Given the description of an element on the screen output the (x, y) to click on. 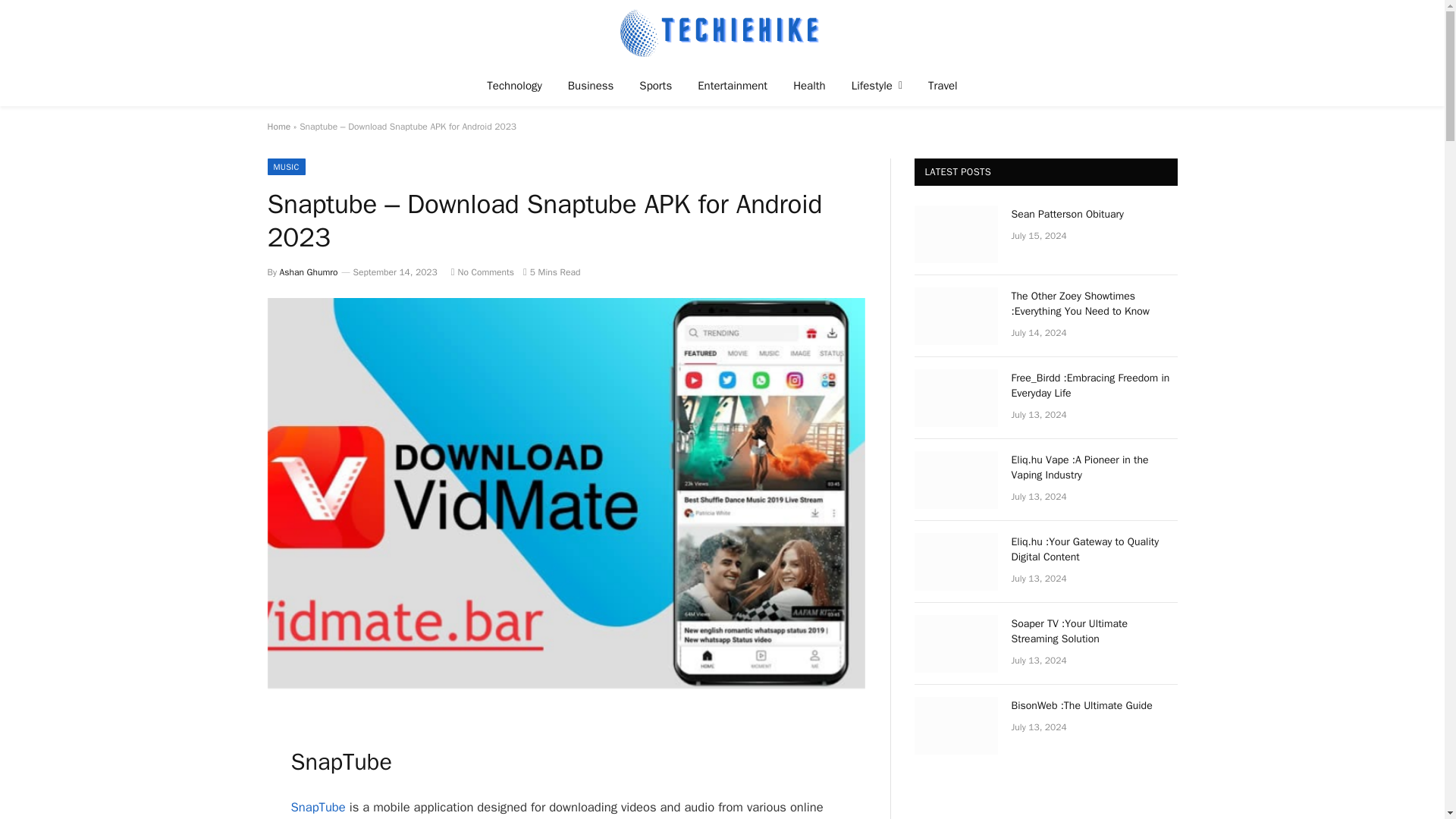
Techie Hike (722, 32)
The Other Zoey Showtimes :Everything You Need to Know (955, 315)
Posts by Ashan Ghumro (308, 272)
Technology (514, 85)
Travel (943, 85)
SnapTube (318, 806)
Sports (655, 85)
BisonWeb :The Ultimate Guide (955, 725)
Business (590, 85)
MUSIC (285, 166)
Soaper TV :Your Ultimate Streaming Solution (955, 643)
No Comments (482, 272)
Entertainment (732, 85)
Lifestyle (876, 85)
Home (277, 126)
